Given the description of an element on the screen output the (x, y) to click on. 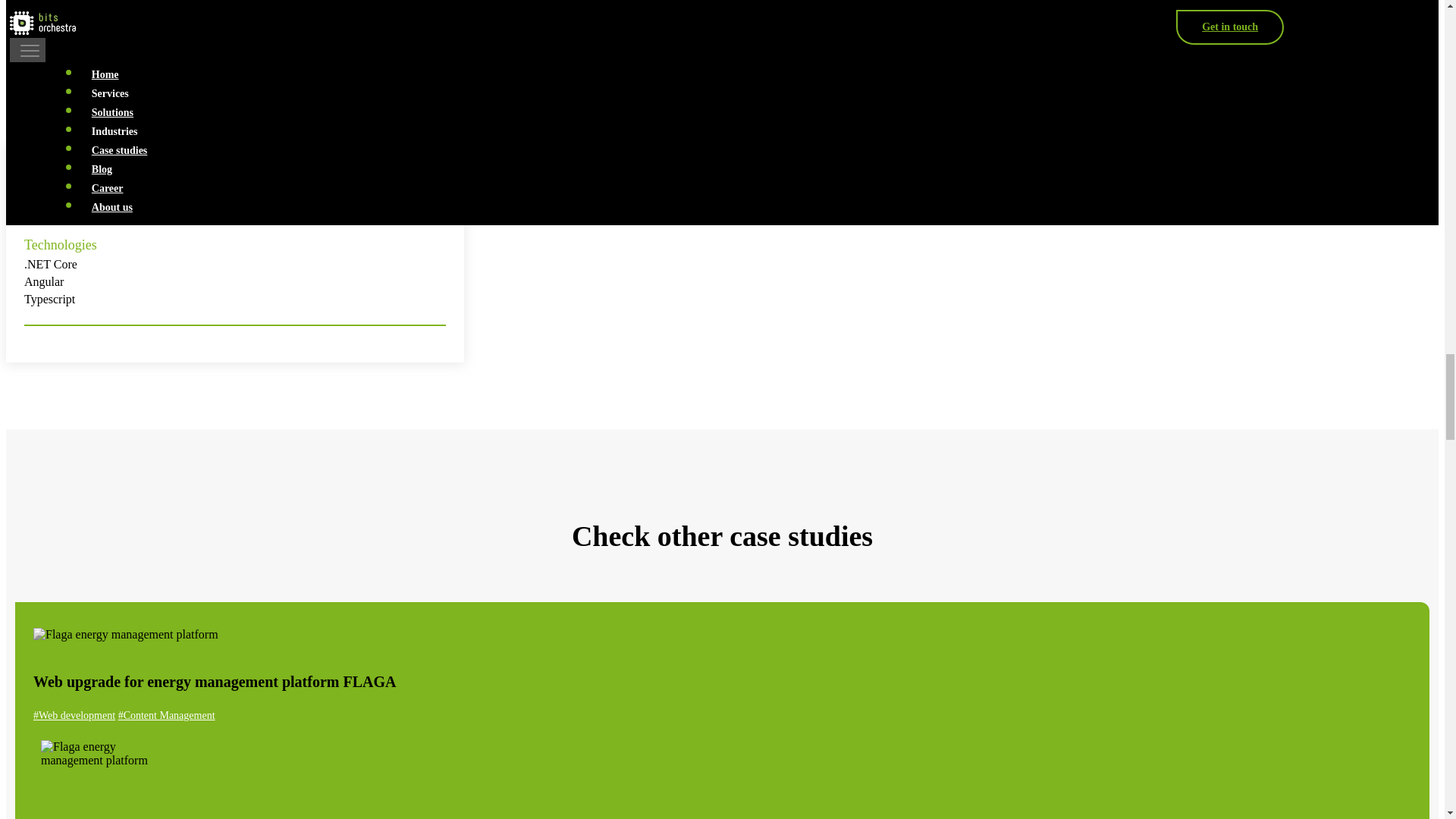
Flaga energy management platform (106, 775)
Flaga energy management platform (125, 634)
